Given the description of an element on the screen output the (x, y) to click on. 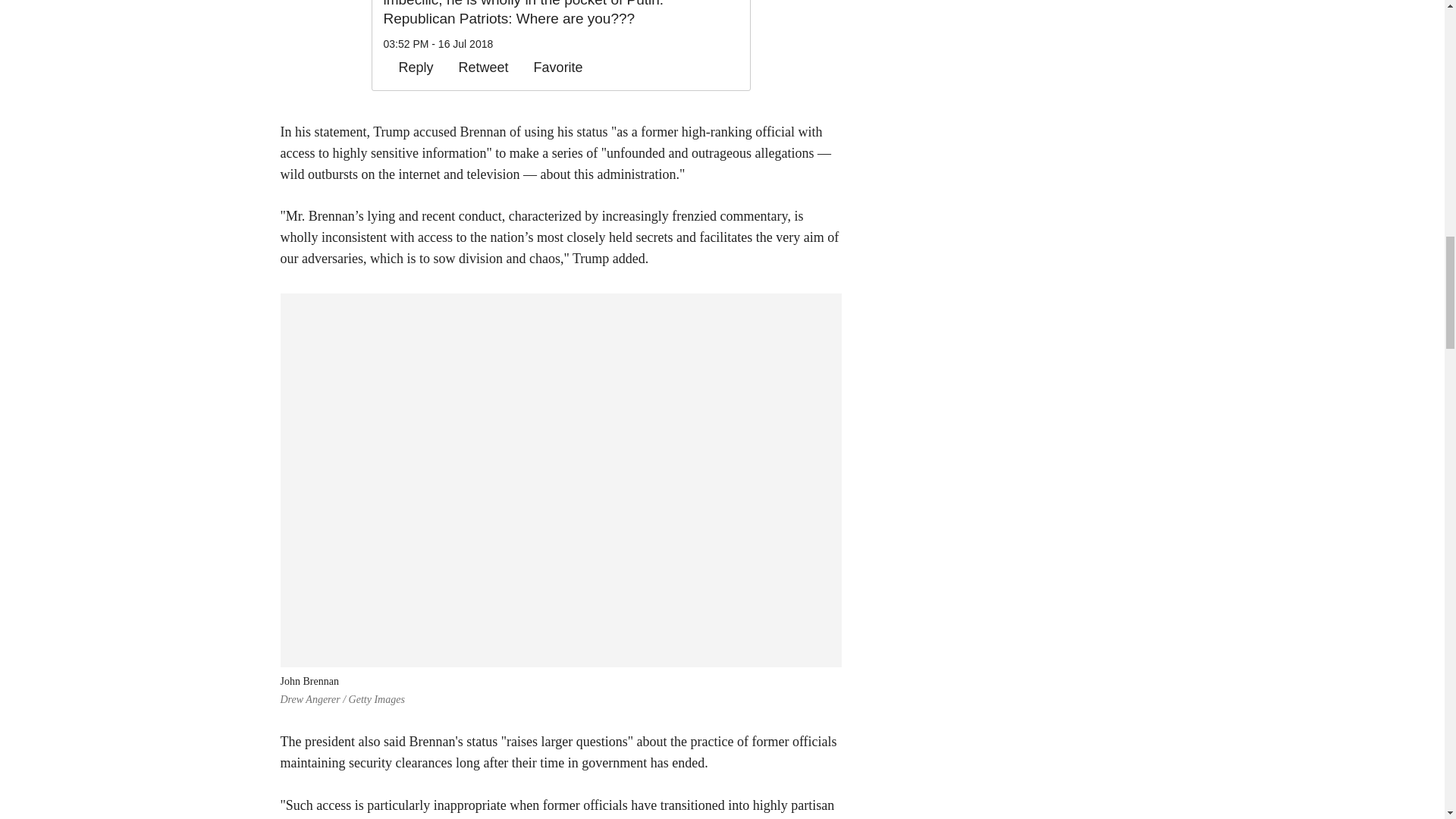
03:52 PM - 16 Jul 2018 (438, 43)
Retweet (476, 67)
Reply (408, 67)
Favorite (550, 67)
